Given the description of an element on the screen output the (x, y) to click on. 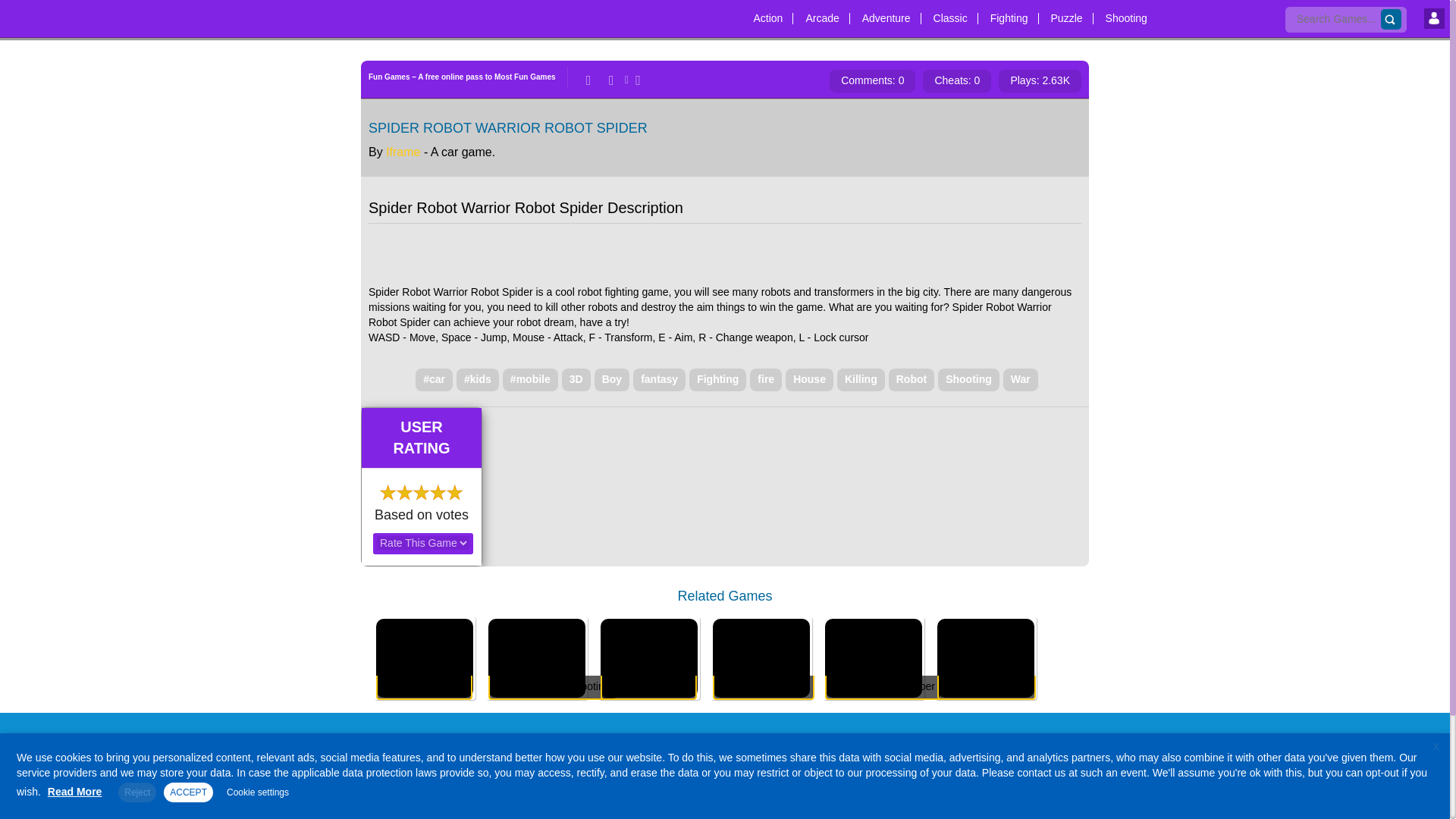
Adventure (885, 13)
Arcade (821, 13)
Play in fullscreen (635, 79)
Gun Evolution (424, 650)
Action (767, 13)
Mineblock Gun Shooting (536, 650)
